Given the description of an element on the screen output the (x, y) to click on. 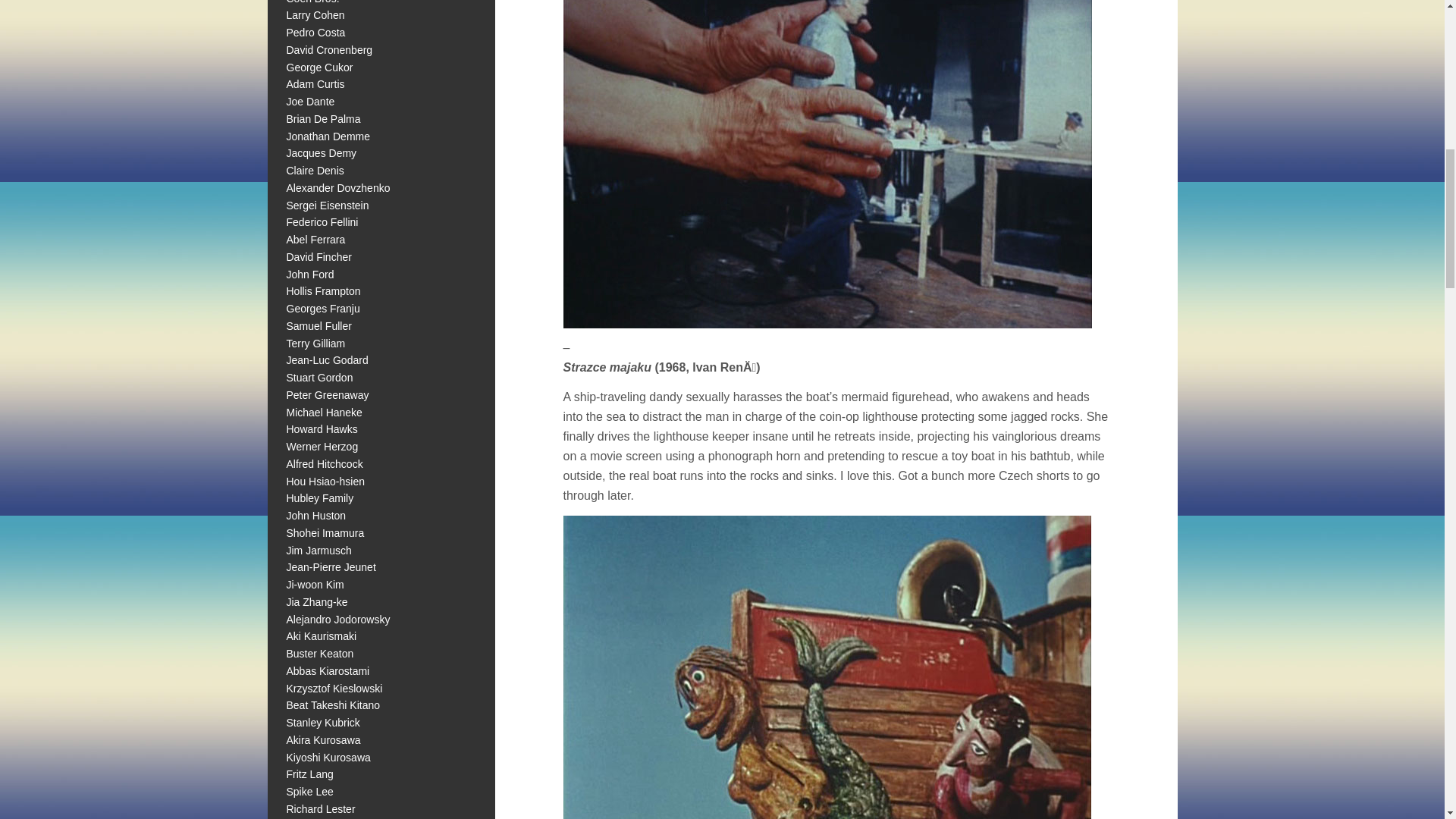
Adam Curtis (315, 83)
Pedro Costa (316, 32)
Coen Bros. (312, 2)
Joe Dante (310, 101)
Alexander Dovzhenko (338, 187)
David Cronenberg (329, 50)
Jonathan Demme (328, 136)
Jacques Demy (321, 152)
Brian De Palma (323, 119)
Larry Cohen (315, 15)
Sergei Eisenstein (327, 204)
Federico Fellini (322, 222)
George Cukor (319, 66)
Claire Denis (314, 170)
